Given the description of an element on the screen output the (x, y) to click on. 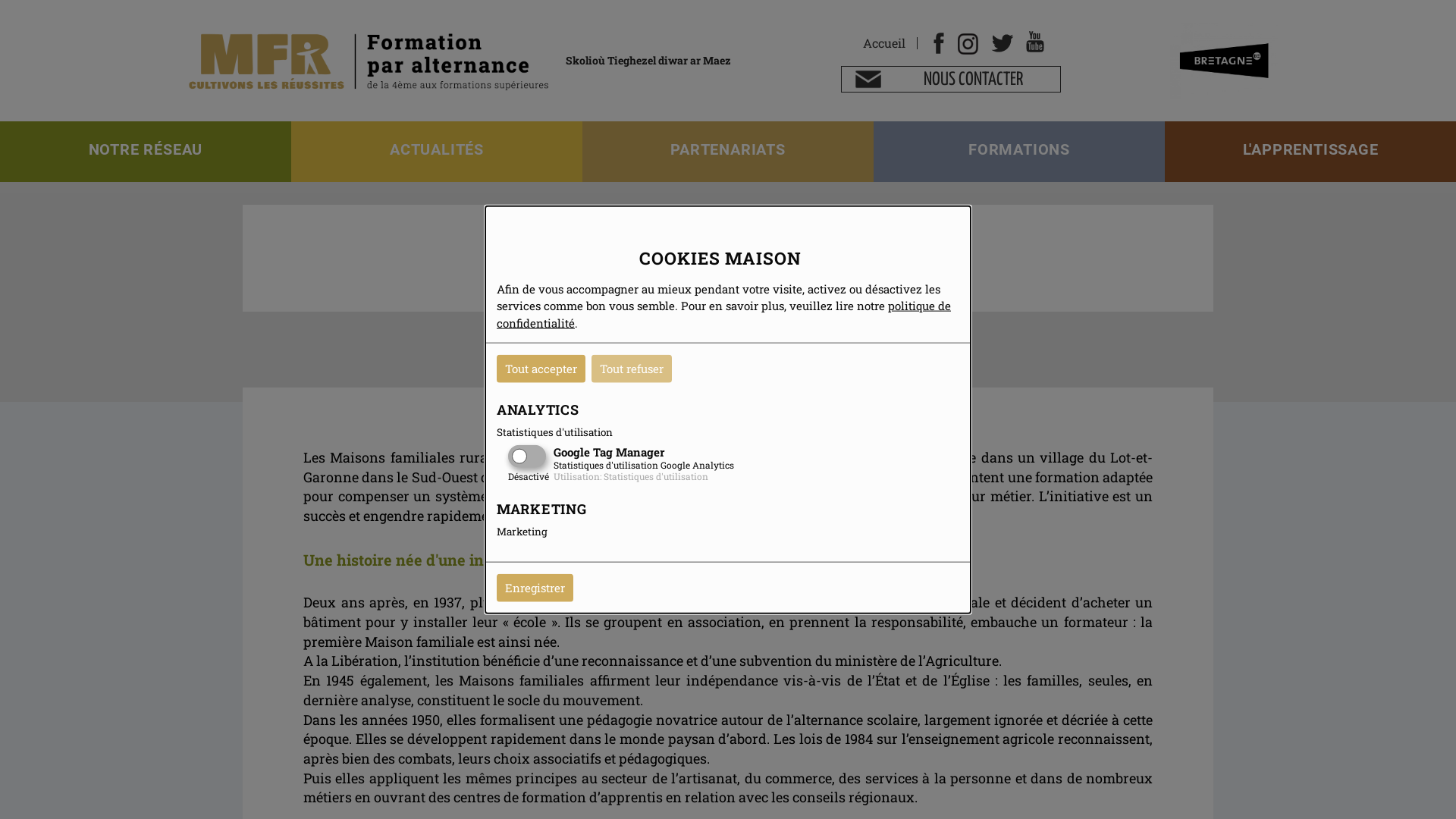
PARTENARIATS Element type: text (727, 151)
Accueil Element type: text (884, 43)
Tout refuser Element type: text (631, 368)
NOUS CONTACTER Element type: text (950, 78)
Tout accepter Element type: text (540, 368)
Instagram Element type: text (968, 43)
FORMATIONS Element type: text (1018, 151)
Enregistrer Element type: text (534, 588)
